Given the description of an element on the screen output the (x, y) to click on. 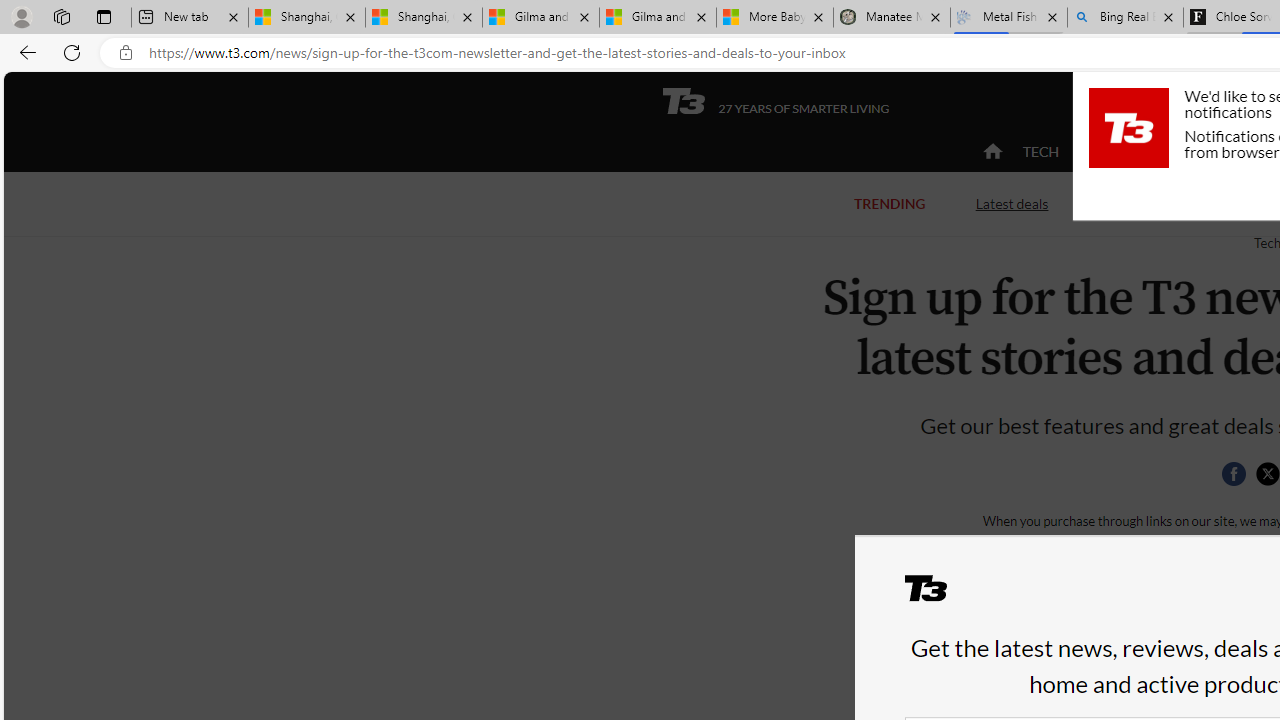
Manatee Mortality Statistics | FWC (891, 17)
T3 27 YEARS OF SMARTER LIVING (775, 101)
t3.com Logo (1128, 127)
Latest deals (1011, 204)
Back to Class 2024 (1178, 202)
Class: icon-svg (1267, 474)
Share this page on Twitter (1267, 474)
Bing Real Estate - Home sales and rental listings (1124, 17)
